Given the description of an element on the screen output the (x, y) to click on. 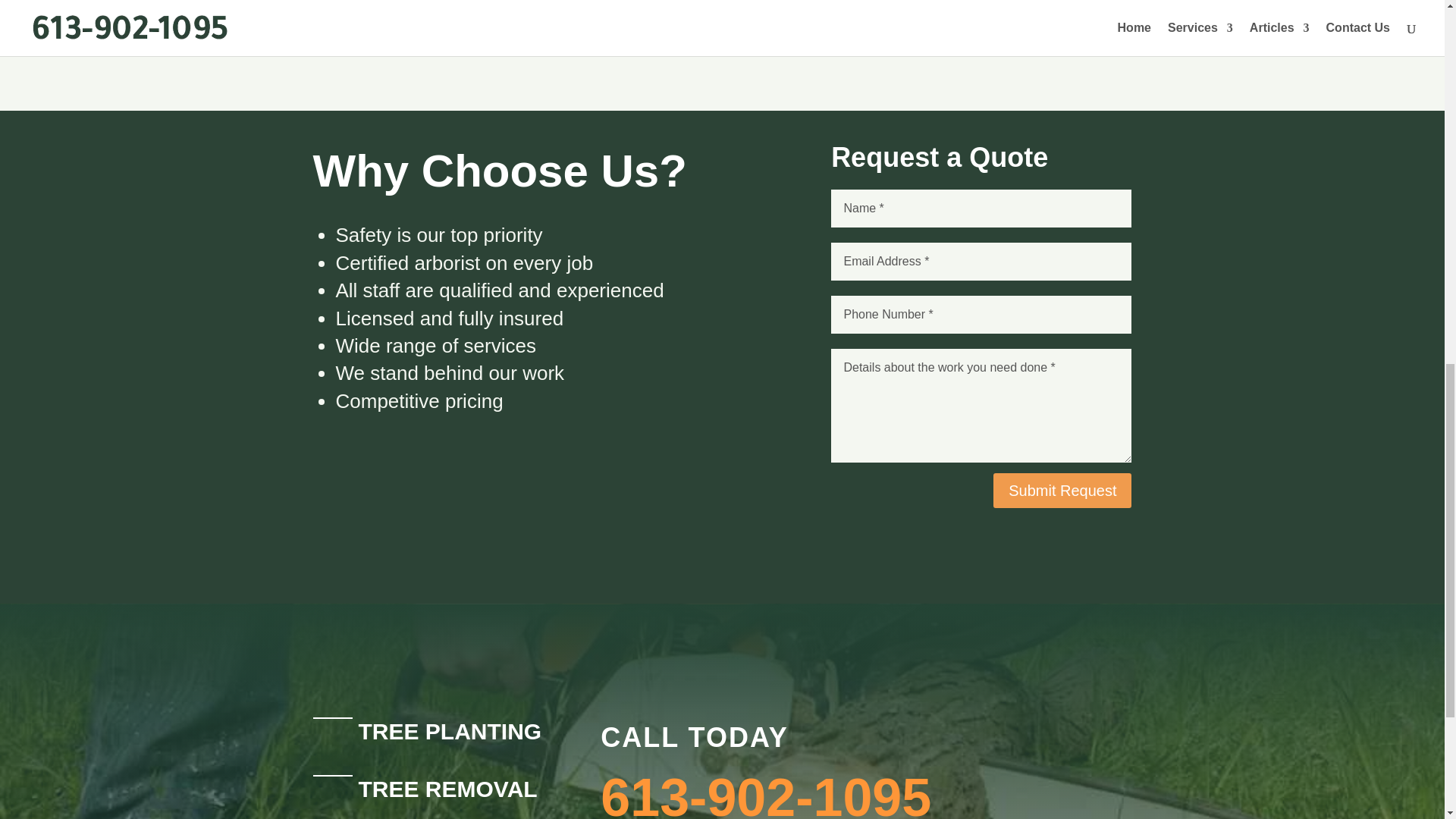
613-902-1095 (765, 793)
Submit Request (1061, 490)
